Given the description of an element on the screen output the (x, y) to click on. 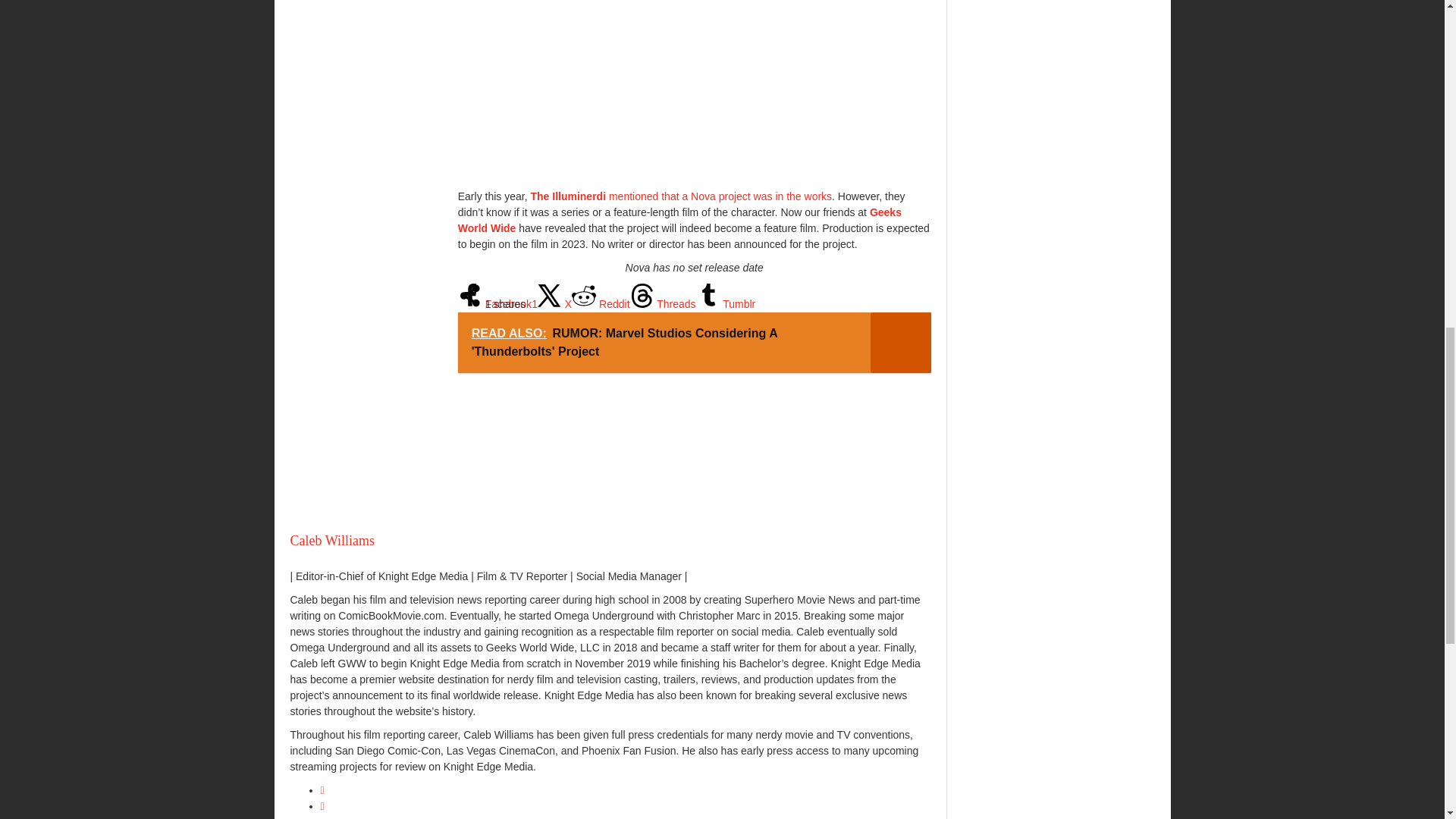
Share on Threads (662, 304)
Share on Tumblr (725, 304)
Share on X (554, 304)
Share on Reddit (600, 304)
Posts by Caleb Williams (331, 540)
Share on Facebook (497, 304)
